Given the description of an element on the screen output the (x, y) to click on. 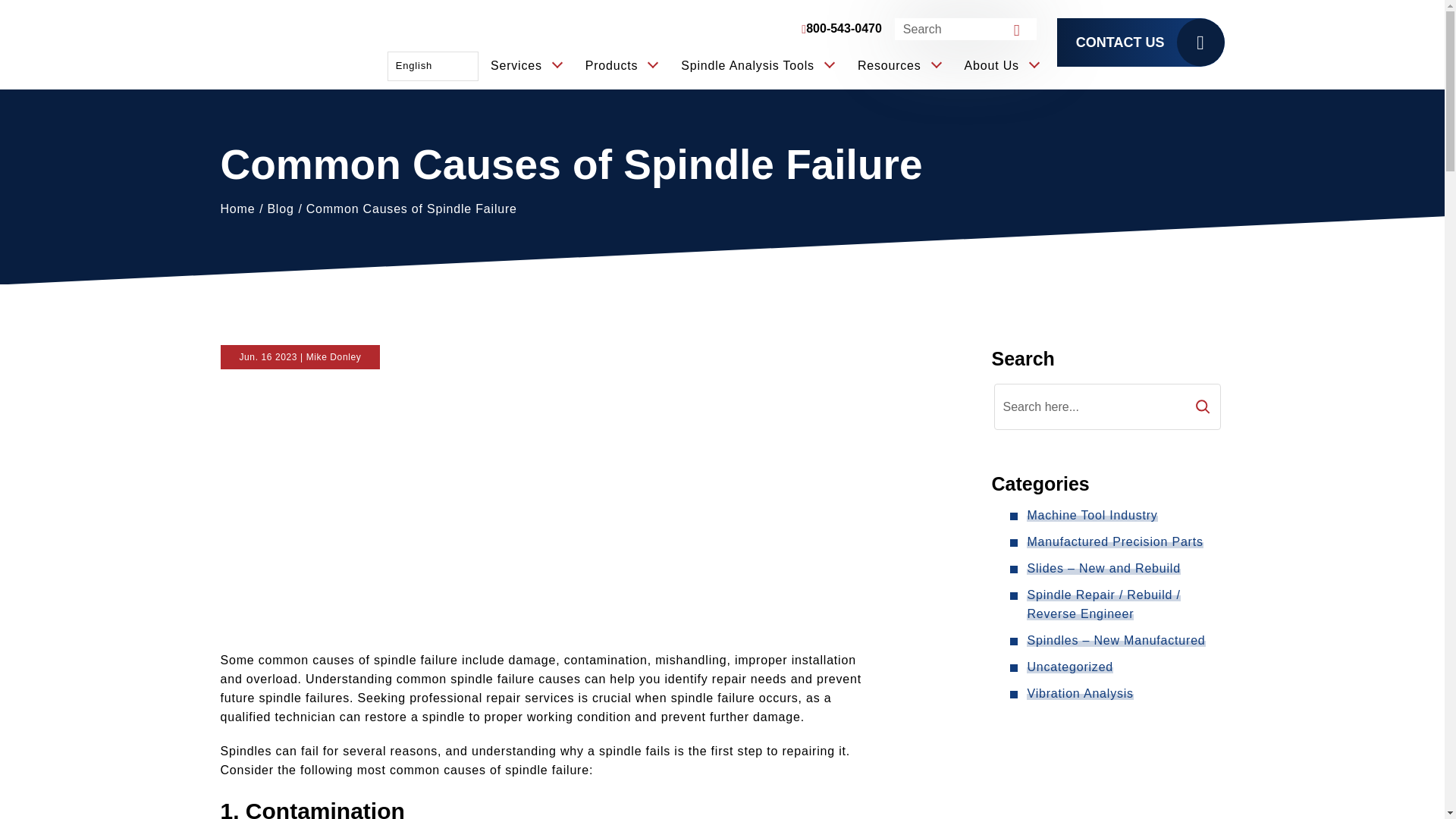
800-543-0470 (841, 28)
Services (525, 66)
Products (621, 66)
